Given the description of an element on the screen output the (x, y) to click on. 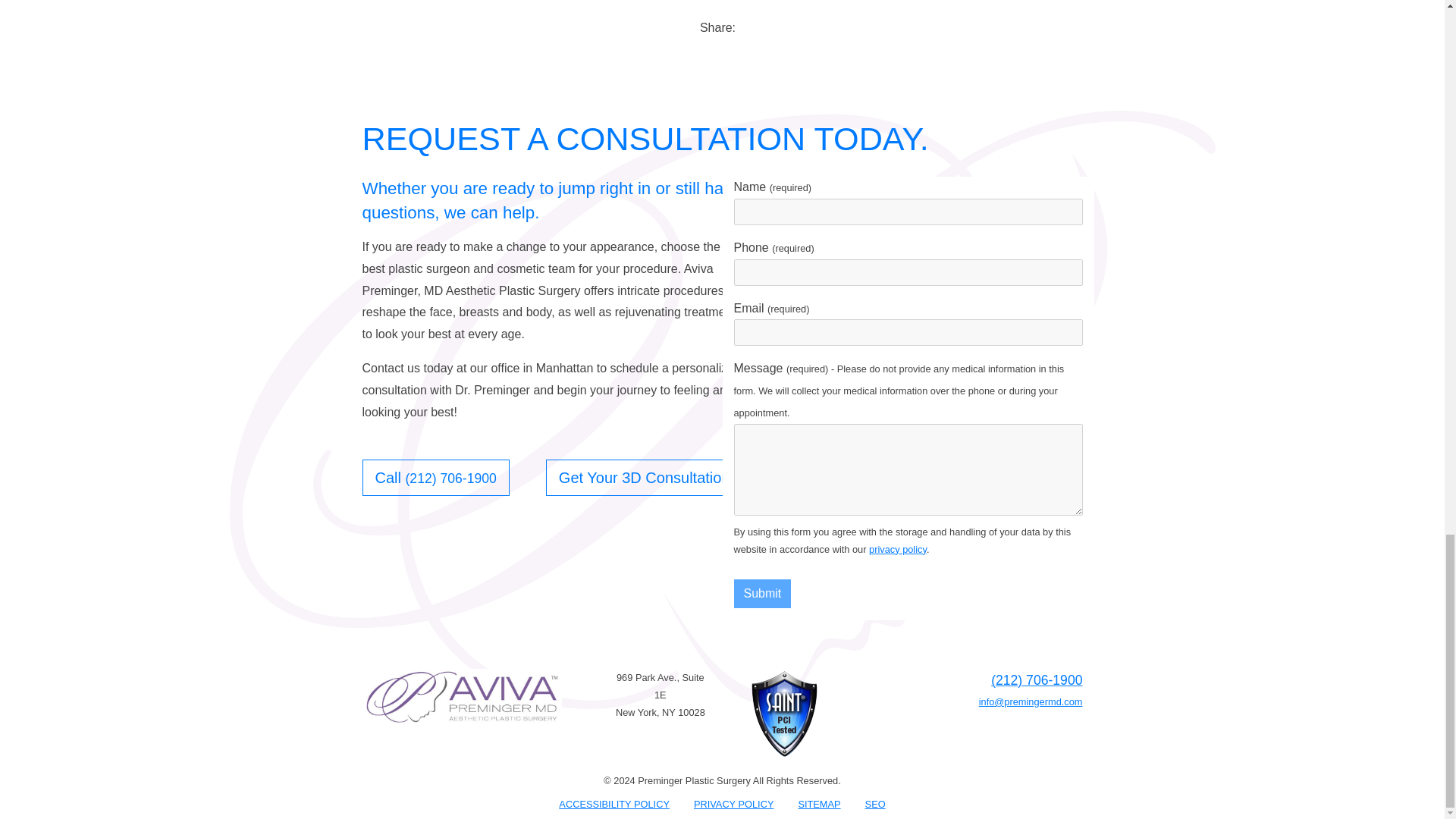
Submit (762, 593)
